Given the description of an element on the screen output the (x, y) to click on. 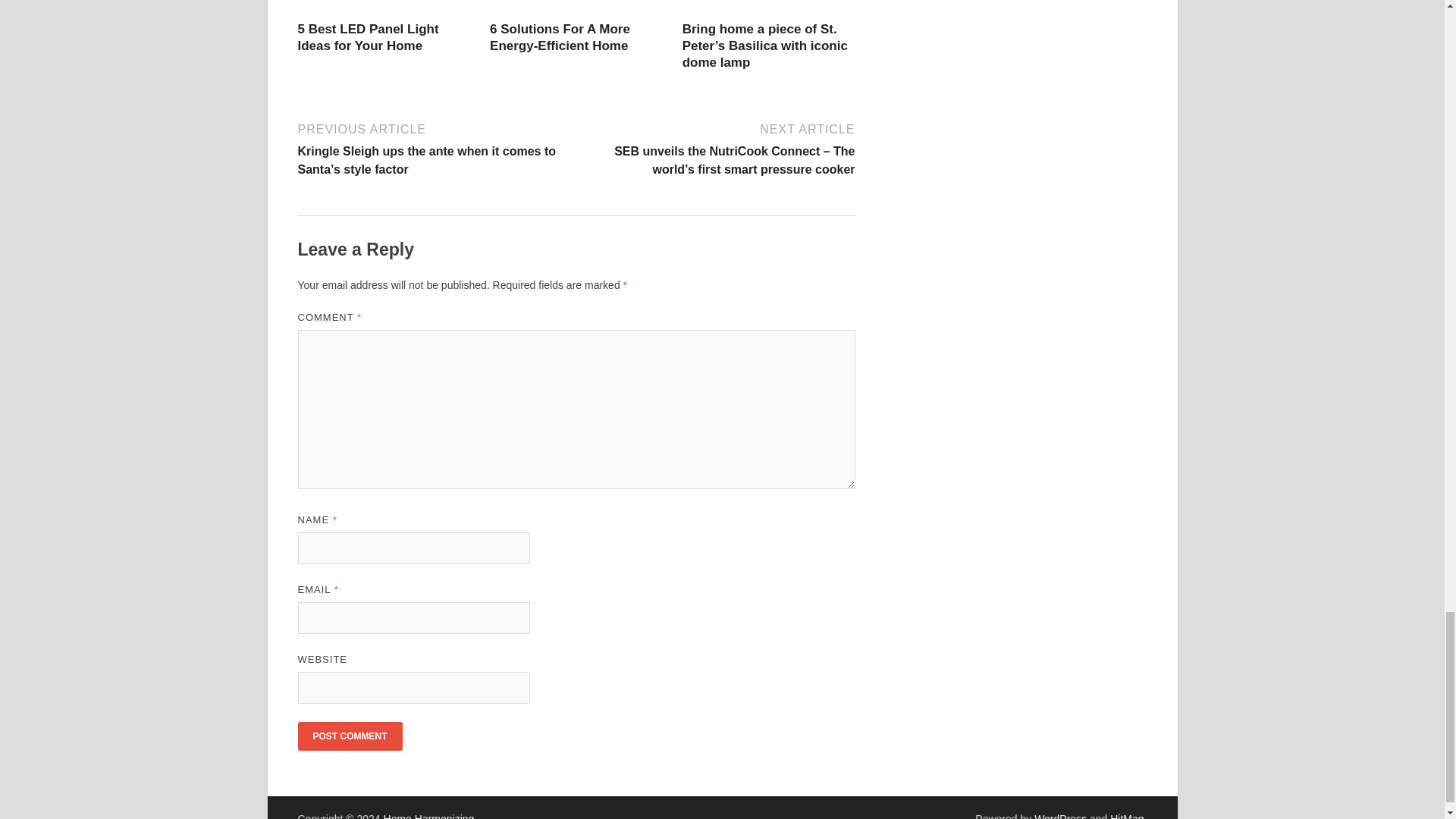
5 Best LED Panel Light Ideas for Your Home (367, 37)
Post Comment (349, 736)
6 Solutions For A More Energy-Efficient Home (559, 37)
